Given the description of an element on the screen output the (x, y) to click on. 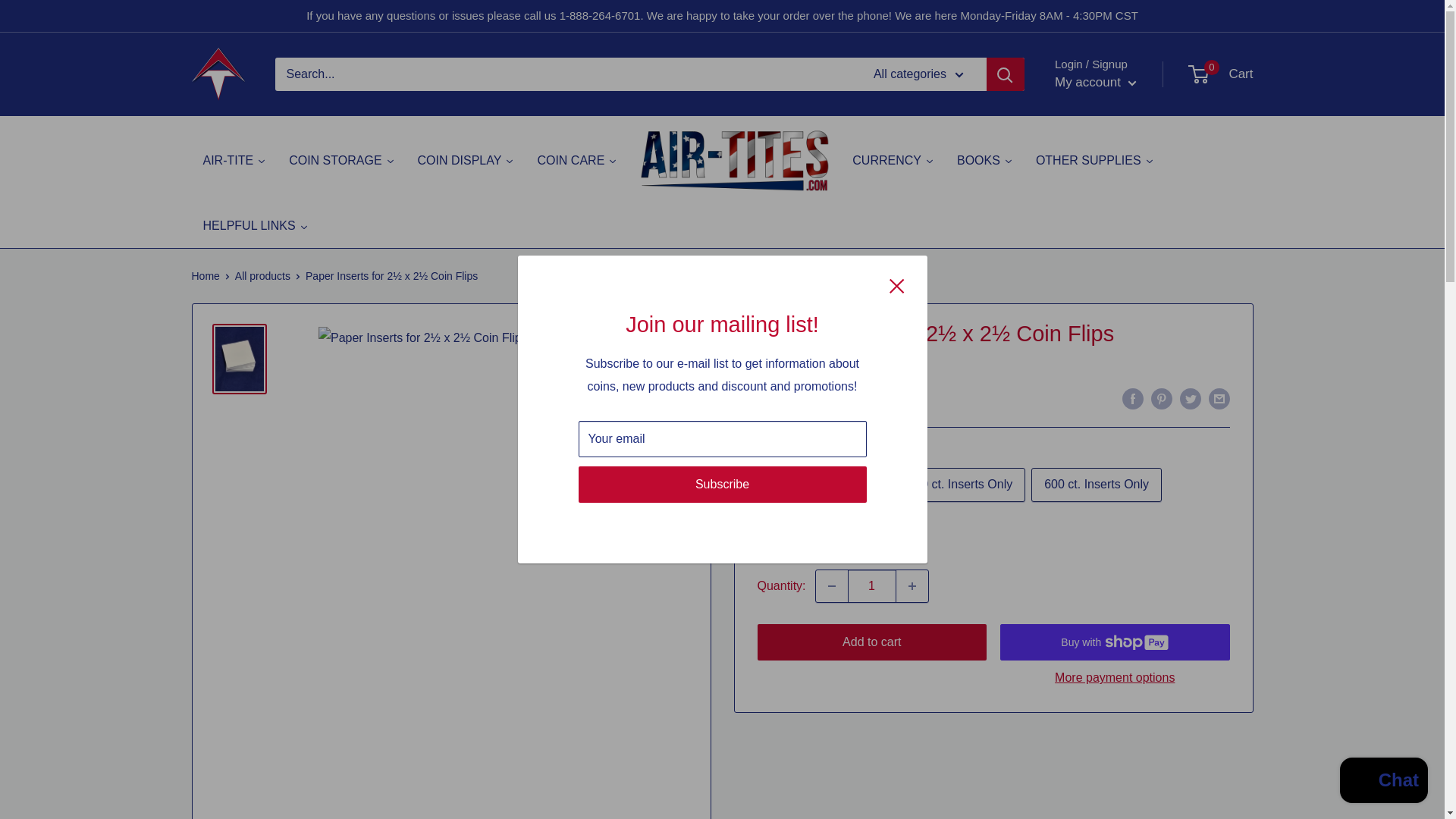
1 (871, 585)
COIN DISPLAY (465, 160)
300 ct. Inserts Only (960, 484)
Subscribe (722, 484)
COIN CARE (576, 160)
OTHER SUPPLIES (1095, 160)
COIN CARE (576, 160)
My account (1095, 82)
COIN STORAGE (342, 160)
COIN DISPLAY (465, 160)
CURRENCY (892, 160)
BOOKS (984, 160)
COIN STORAGE (342, 160)
AIR-TITE (234, 160)
100 ct. Inserts Only (823, 484)
